Given the description of an element on the screen output the (x, y) to click on. 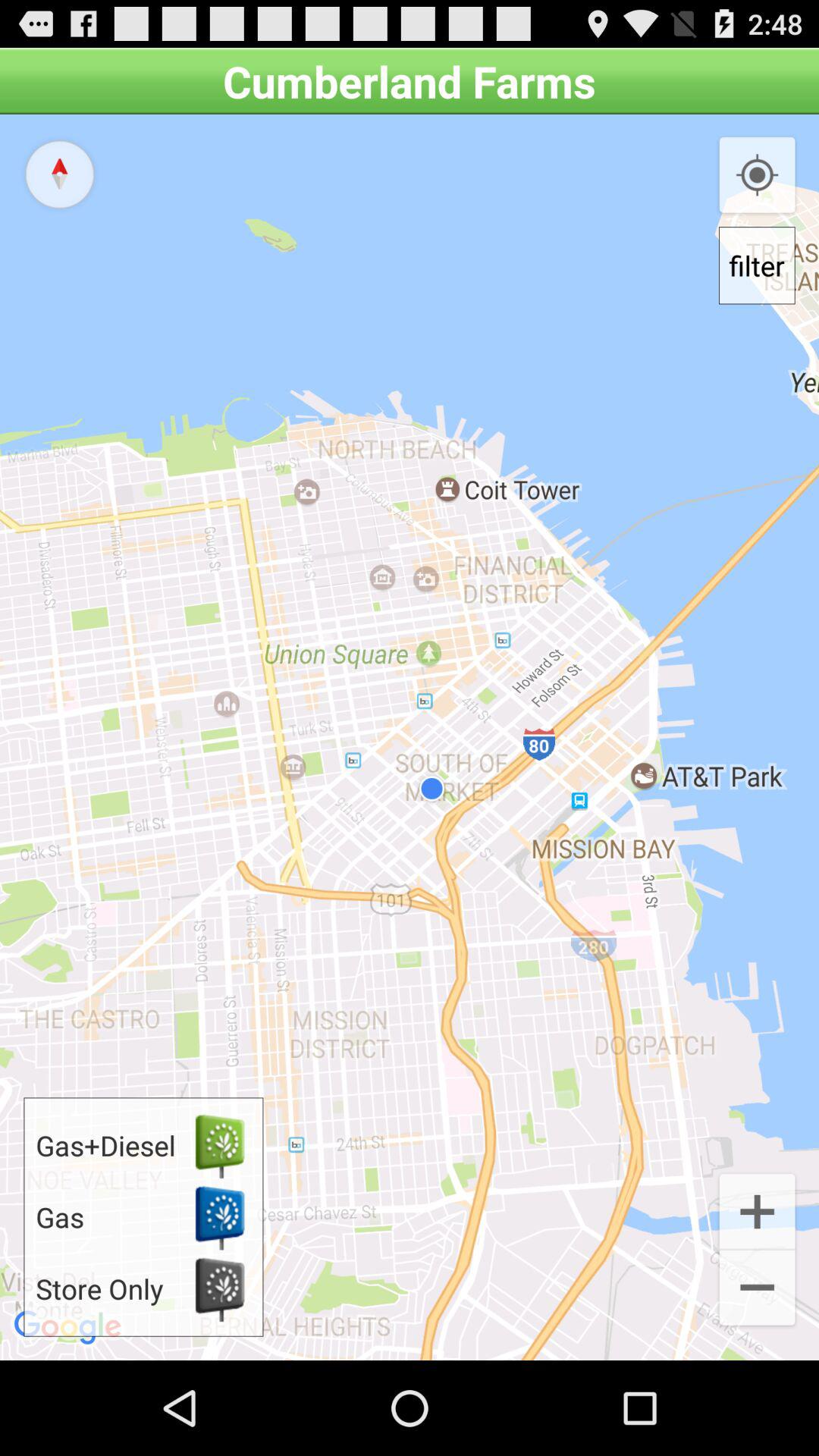
press item at the top left corner (59, 173)
